Given the description of an element on the screen output the (x, y) to click on. 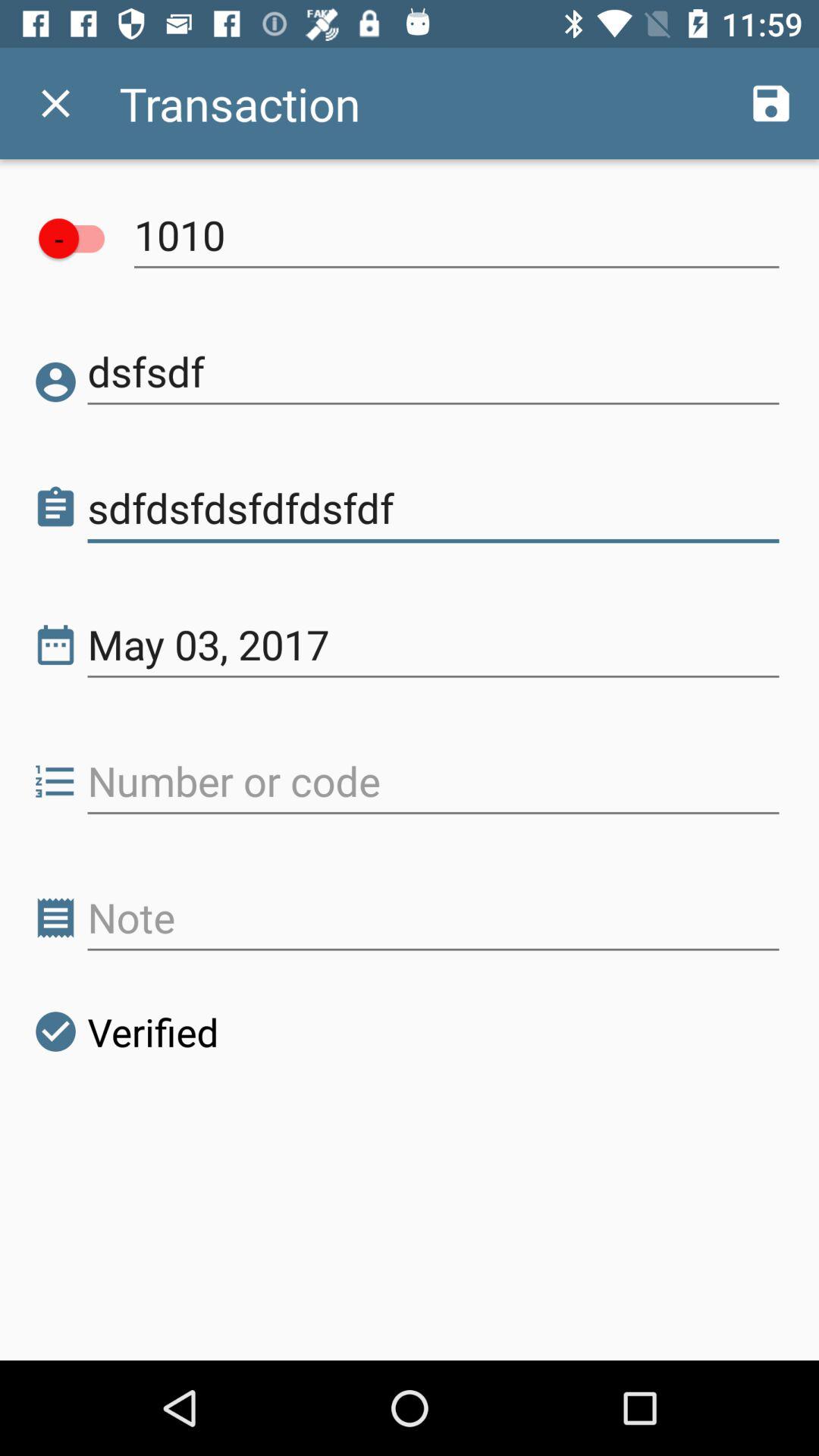
tap the item below 1010 (433, 371)
